Given the description of an element on the screen output the (x, y) to click on. 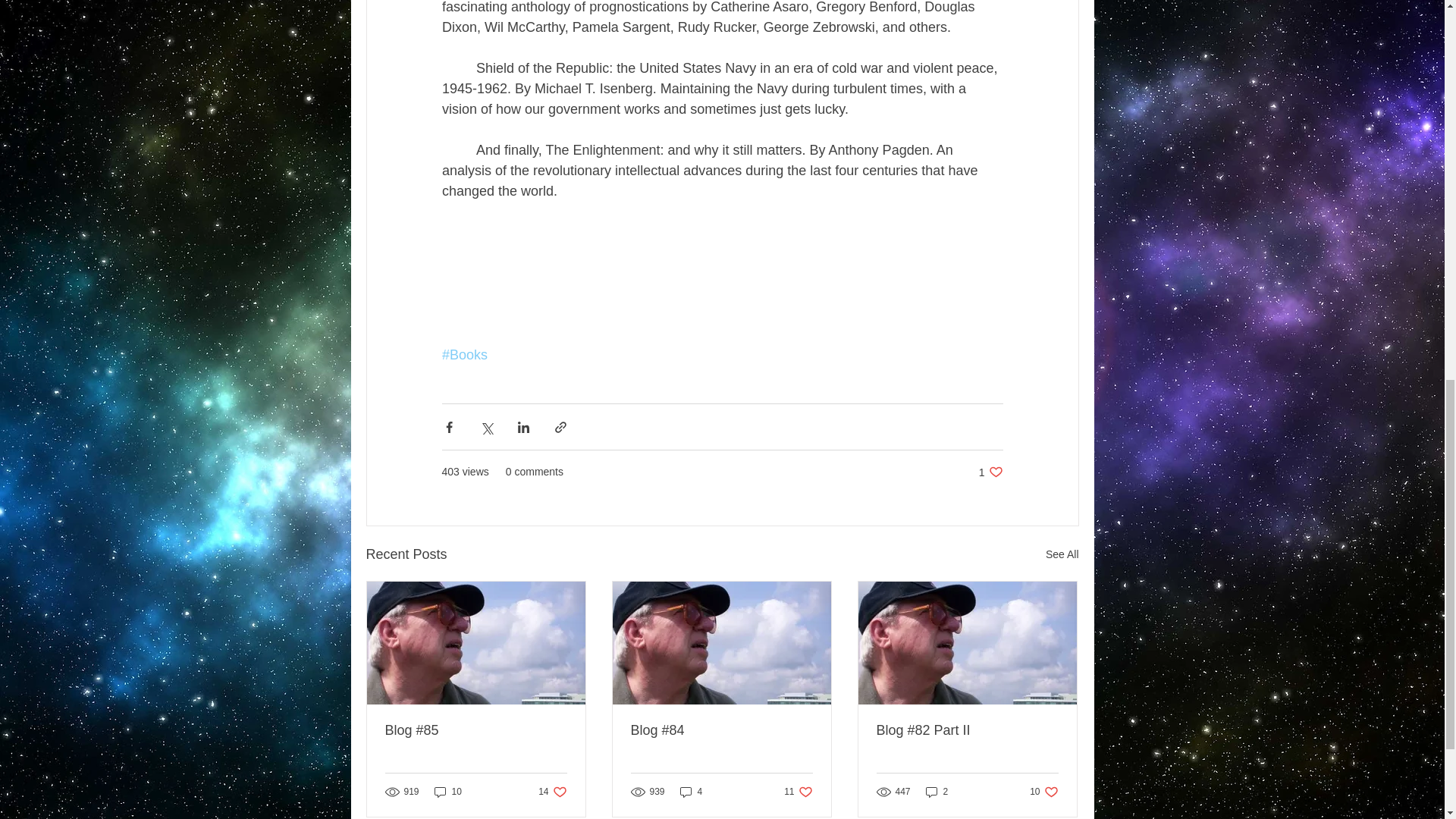
10 (447, 790)
See All (990, 472)
